Given the description of an element on the screen output the (x, y) to click on. 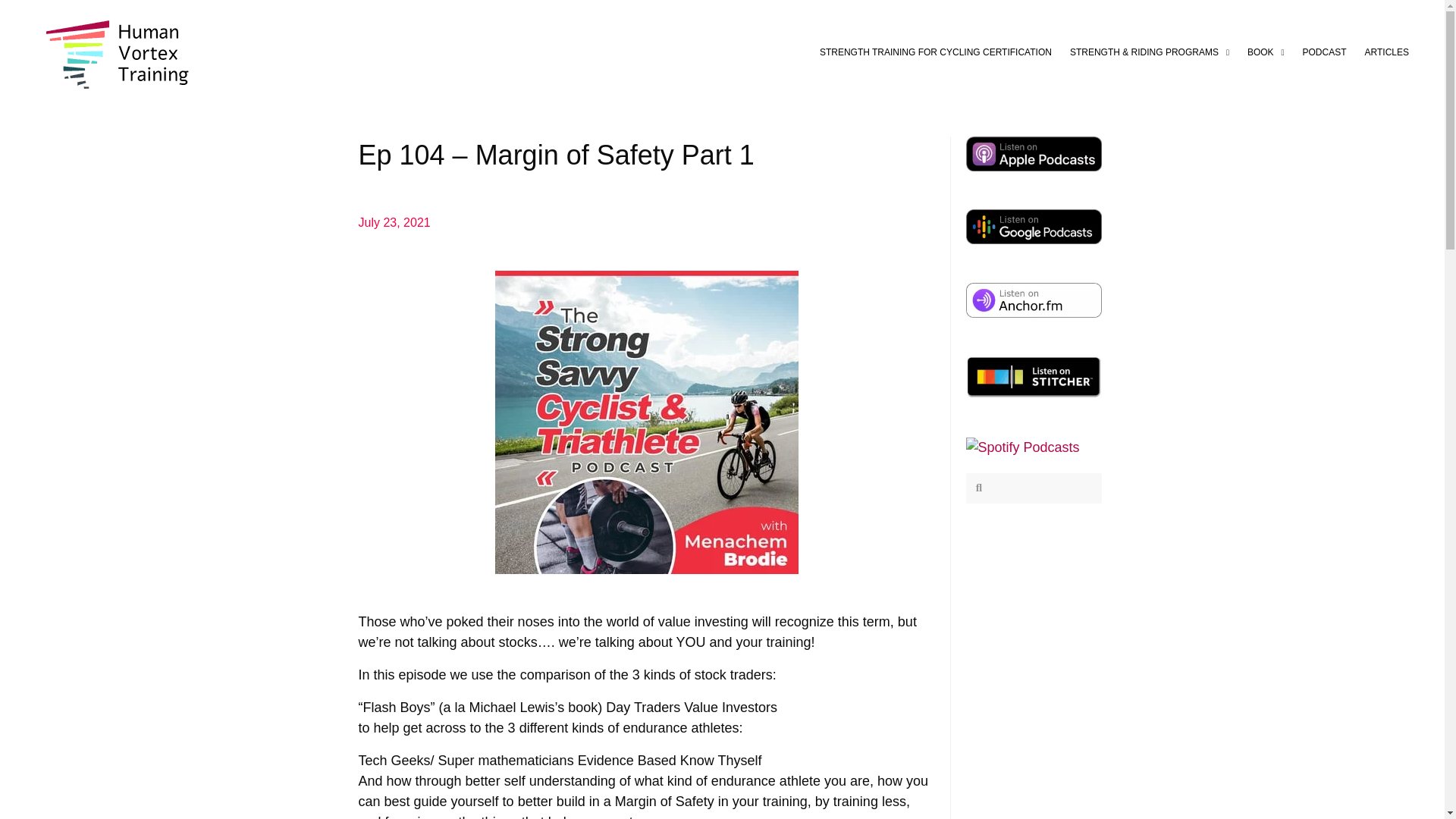
BOOK (1266, 51)
STRENGTH TRAINING FOR CYCLING CERTIFICATION (935, 51)
ARTICLES (1386, 51)
PODCAST (1324, 51)
